Given the description of an element on the screen output the (x, y) to click on. 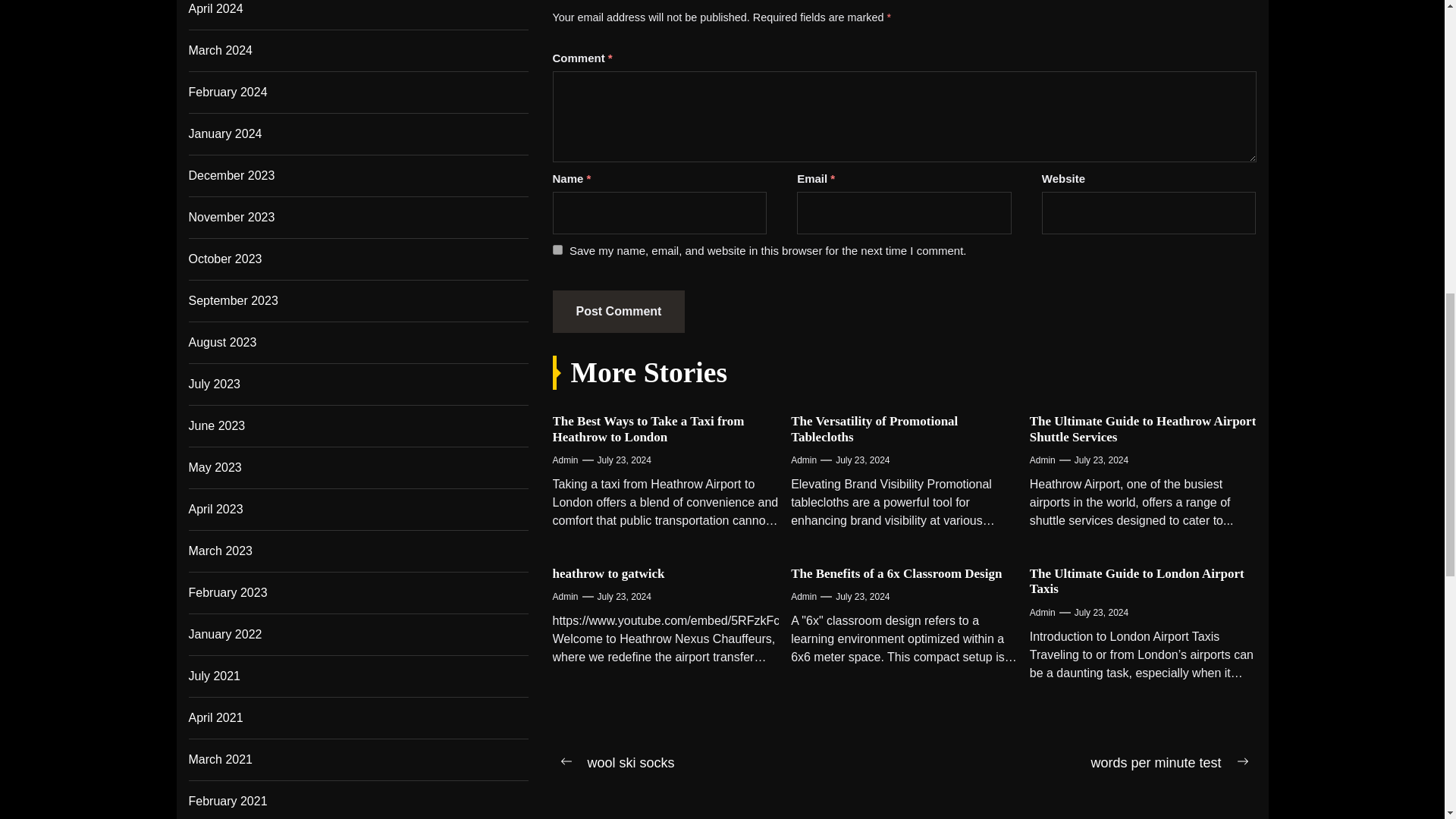
Post Comment (617, 311)
yes (556, 249)
